Given the description of an element on the screen output the (x, y) to click on. 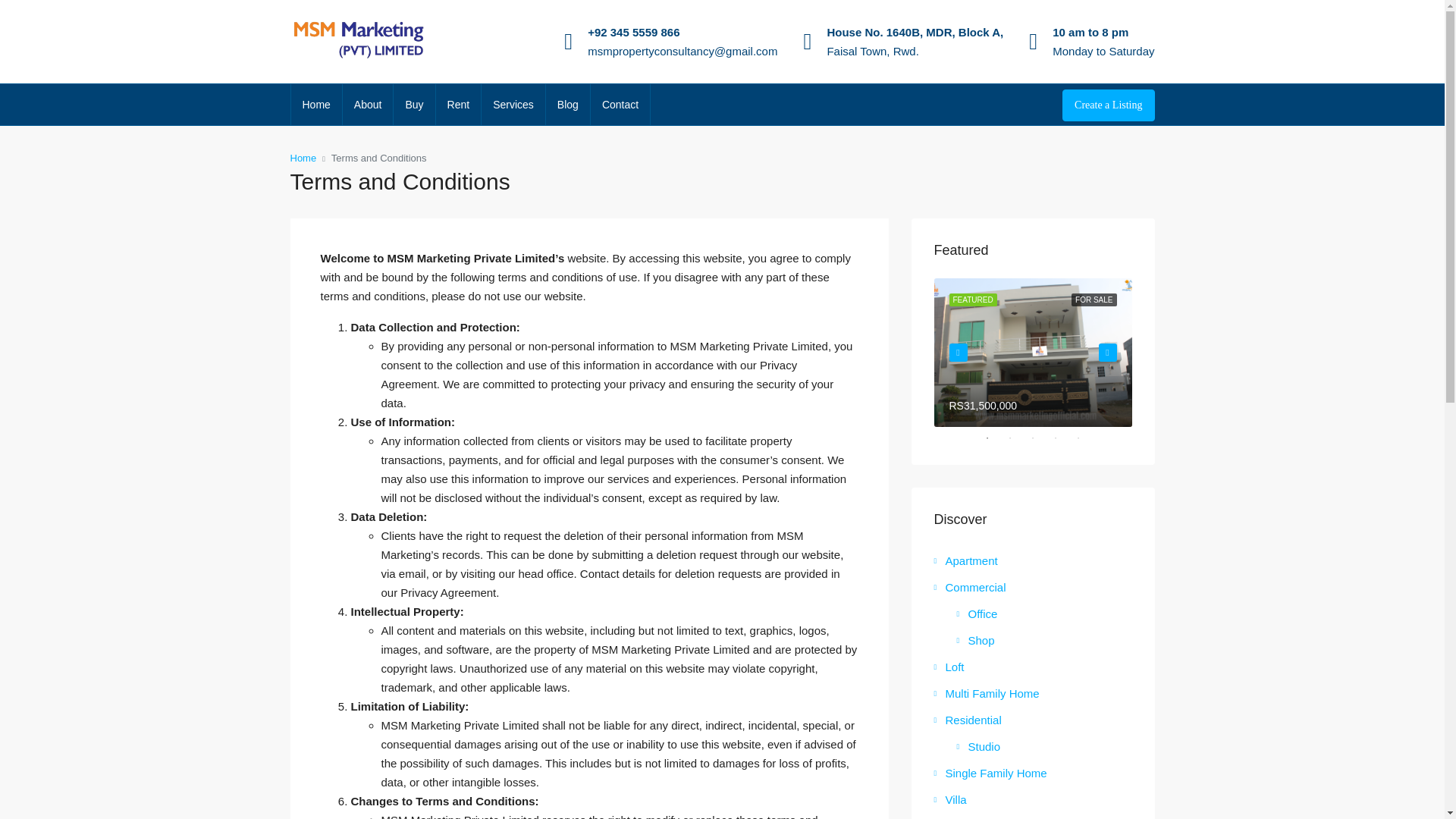
Rent (458, 104)
FOR SALE (1093, 299)
Contact (620, 104)
Home (302, 157)
Create a Listing (1108, 105)
Blog (567, 104)
Home (316, 104)
Buy (413, 104)
Prev (958, 352)
About (367, 104)
Services (512, 104)
